Given the description of an element on the screen output the (x, y) to click on. 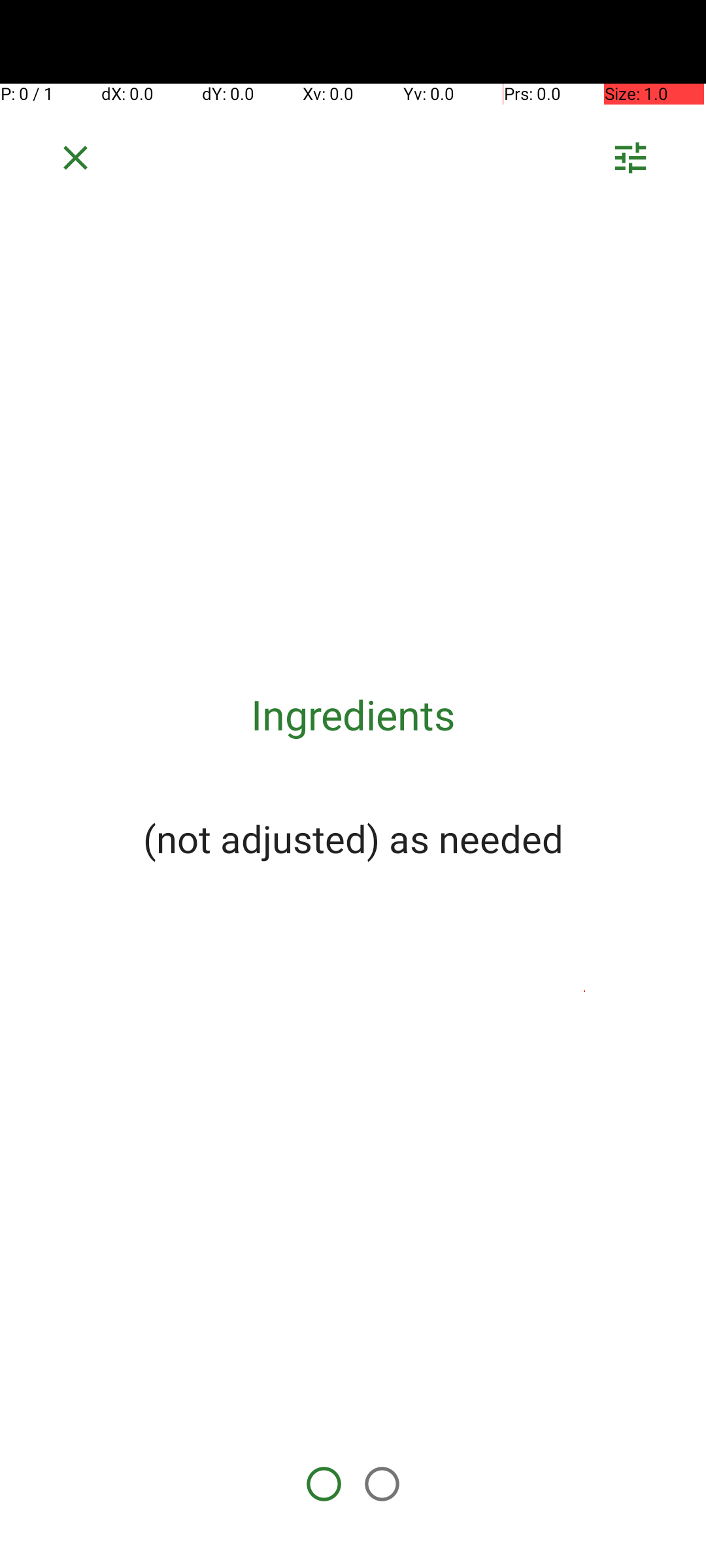
(not adjusted) as needed Element type: android.widget.TextView (353, 838)
